Given the description of an element on the screen output the (x, y) to click on. 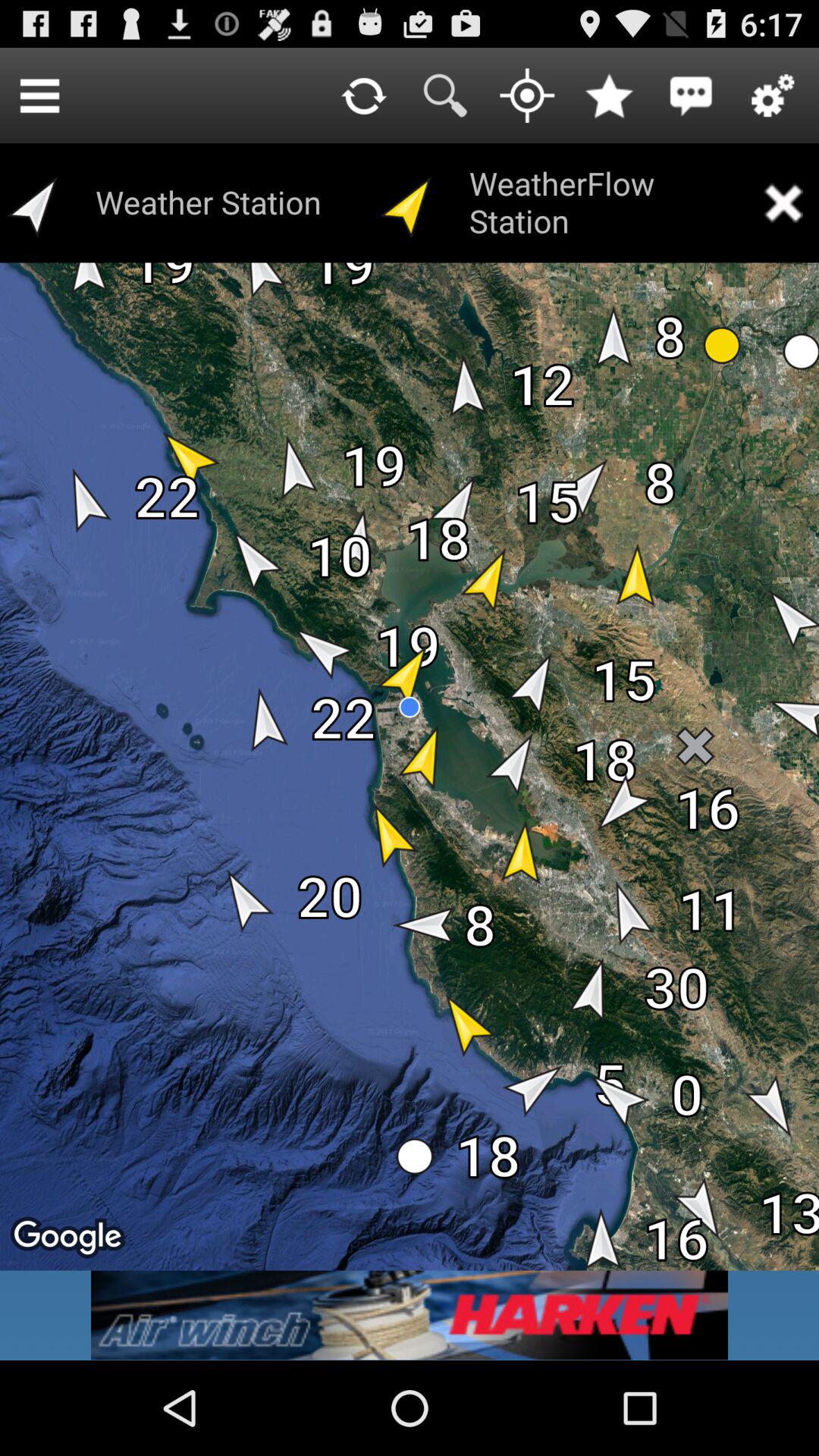
mark as favorite (608, 95)
